Given the description of an element on the screen output the (x, y) to click on. 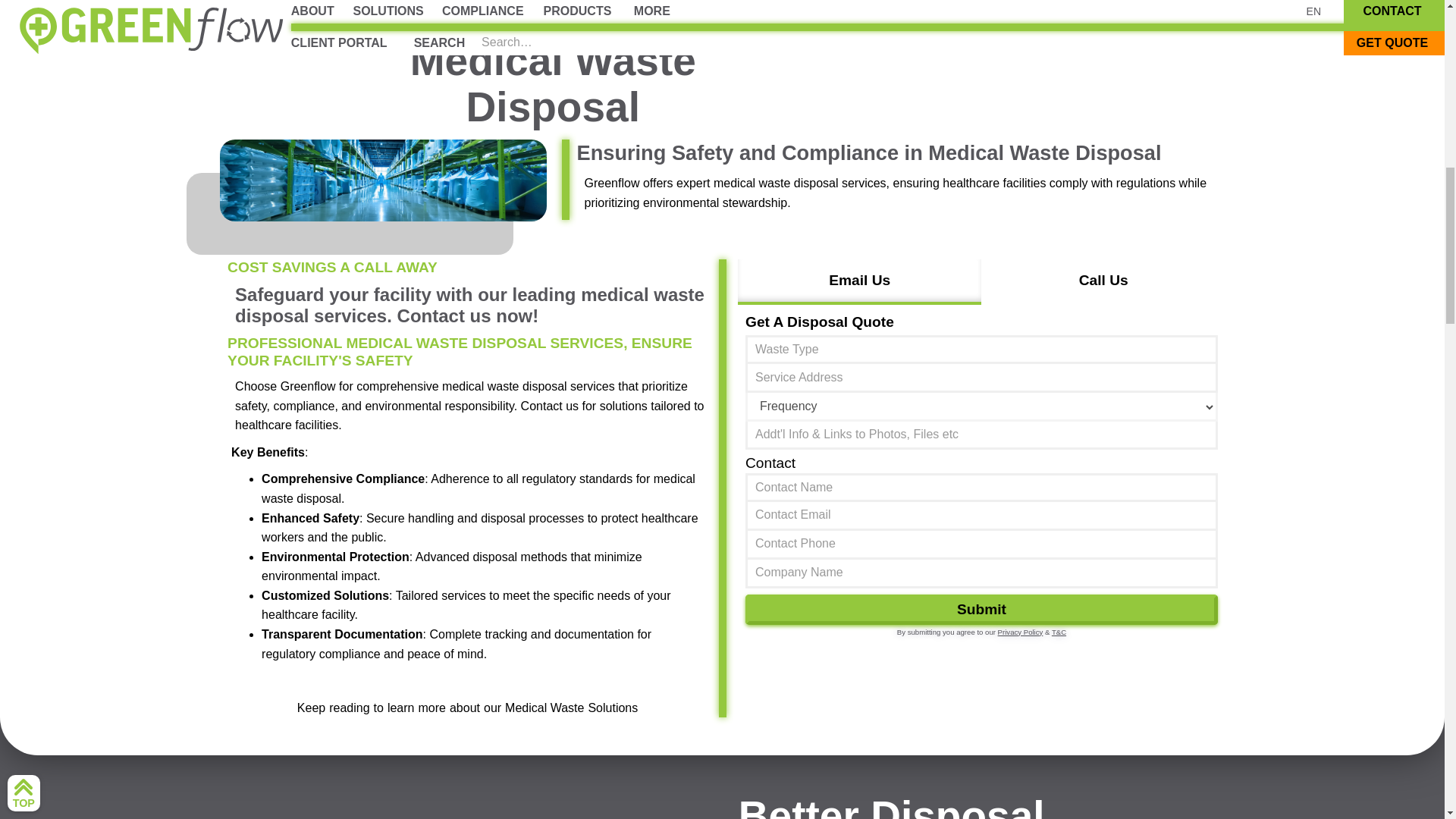
Submit (981, 609)
